Given the description of an element on the screen output the (x, y) to click on. 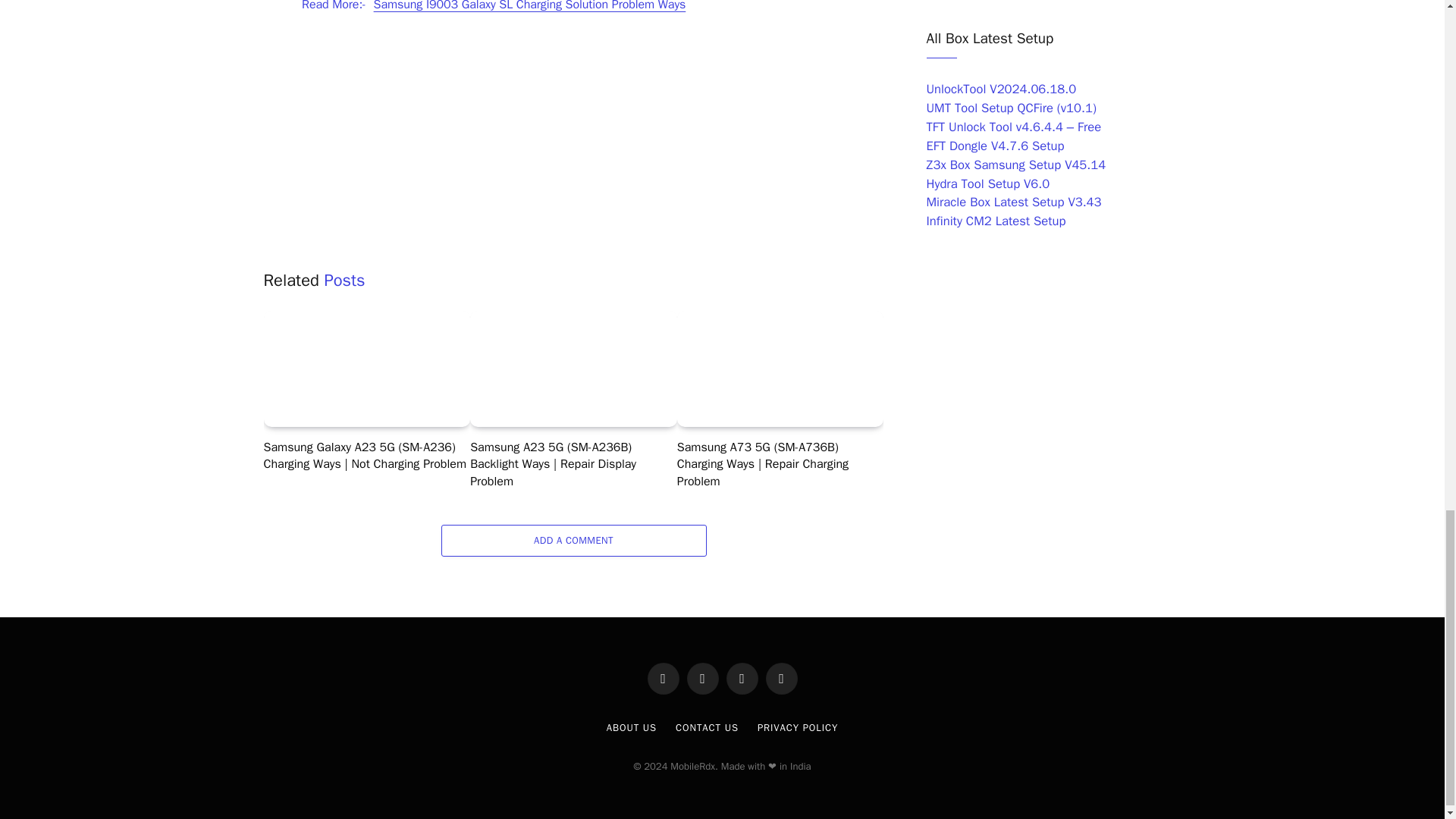
ADD A COMMENT (573, 540)
